Given the description of an element on the screen output the (x, y) to click on. 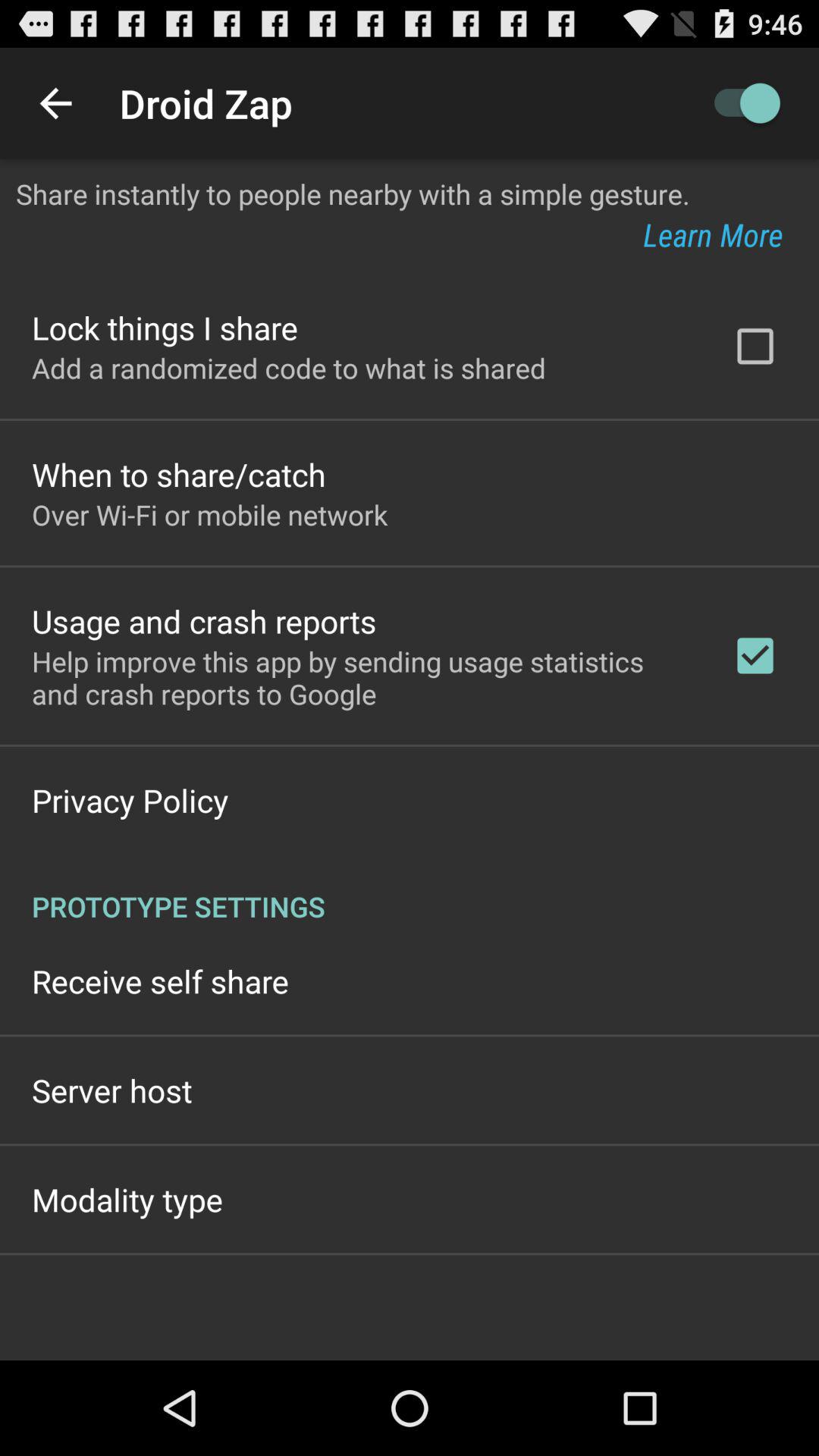
jump until the add a randomized item (288, 367)
